Given the description of an element on the screen output the (x, y) to click on. 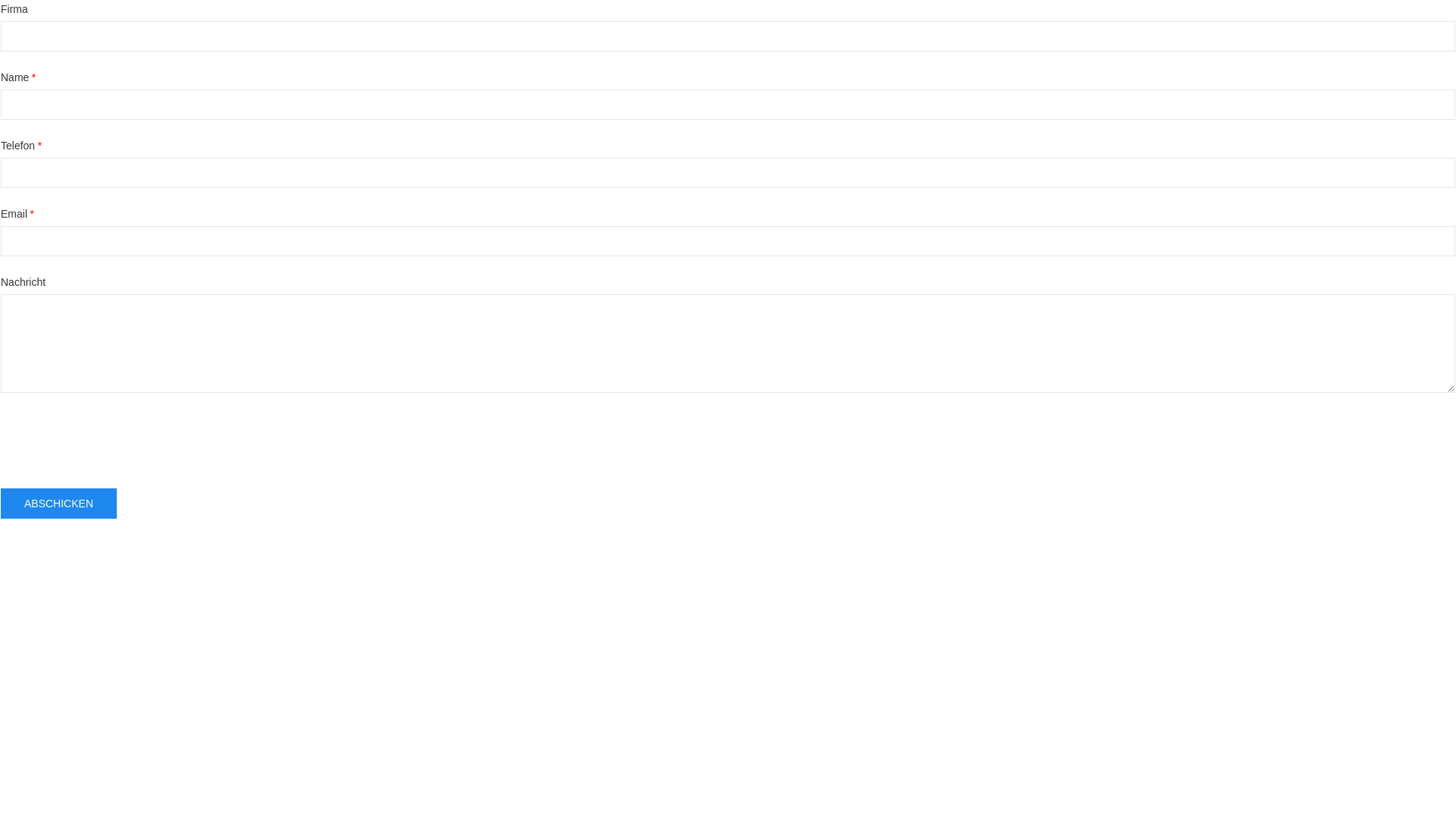
ABSCHICKEN Element type: text (58, 503)
